Given the description of an element on the screen output the (x, y) to click on. 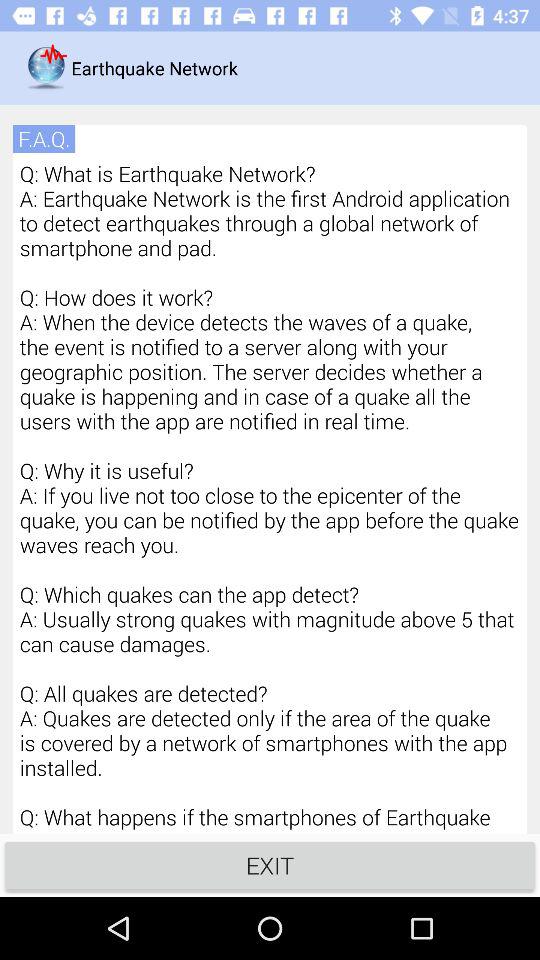
select the exit icon (270, 864)
